Given the description of an element on the screen output the (x, y) to click on. 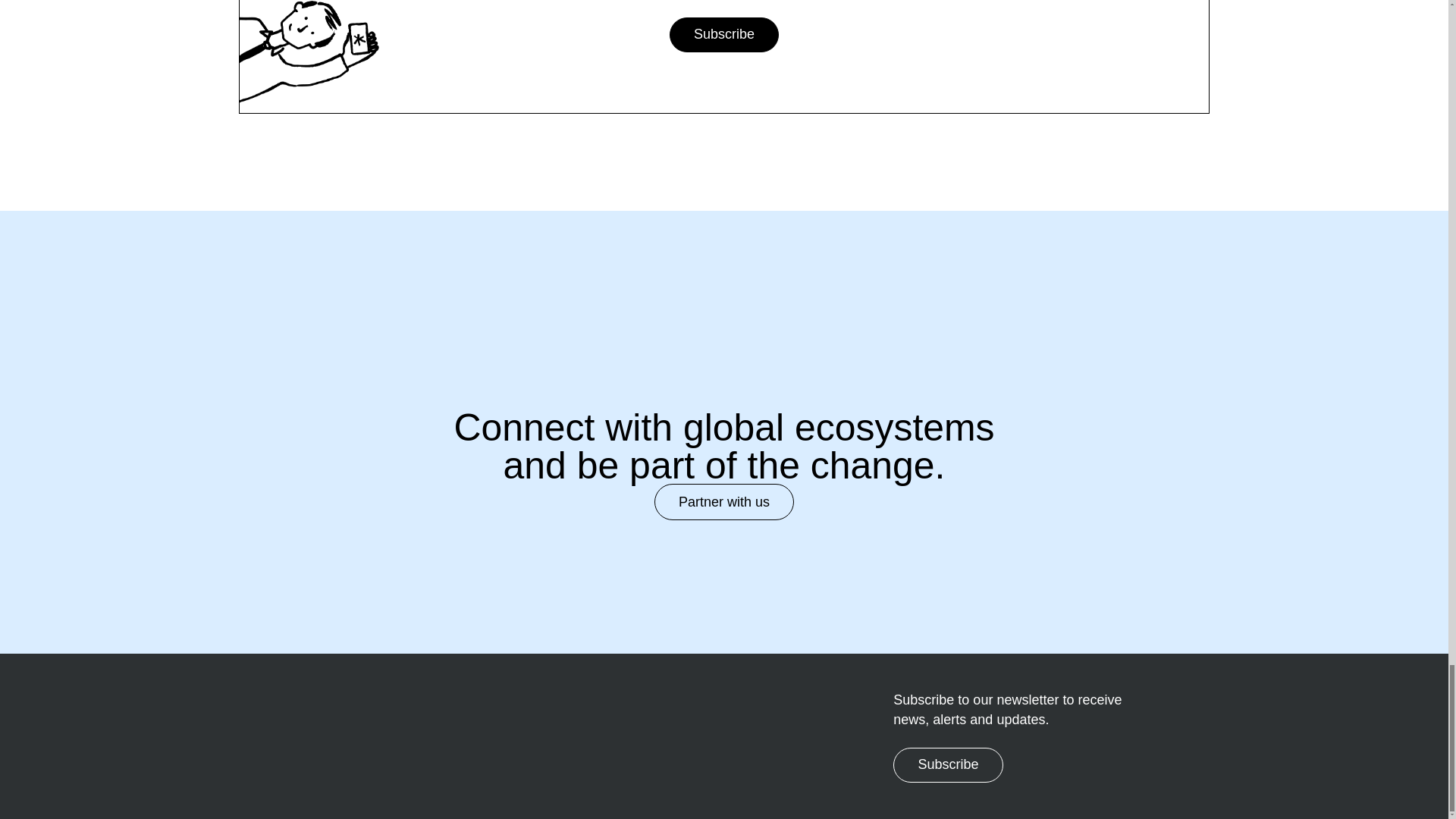
Partner with us (723, 502)
Subscribe (948, 764)
Subscribe (723, 34)
